Given the description of an element on the screen output the (x, y) to click on. 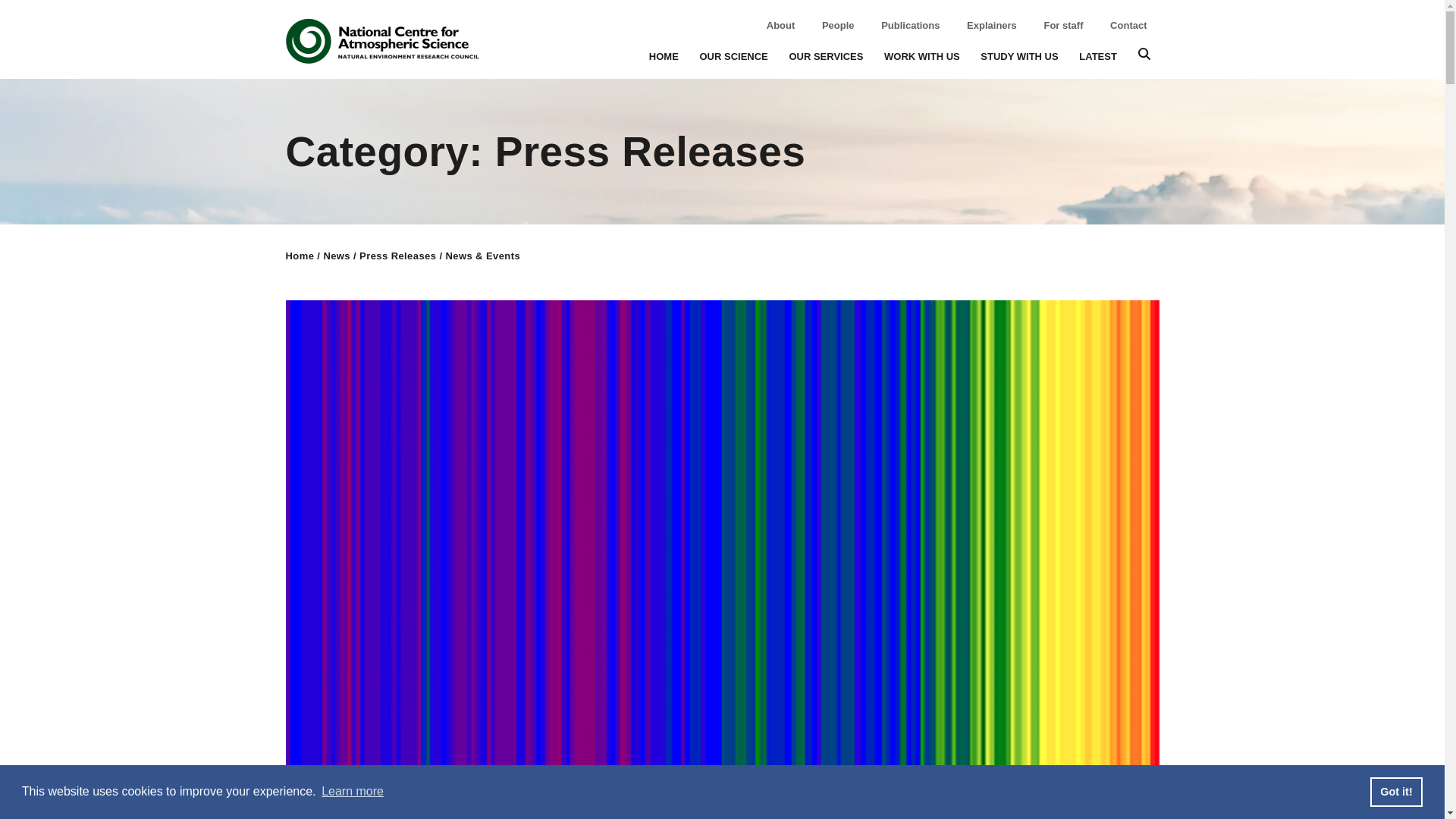
LATEST (1097, 55)
WORK WITH US (921, 55)
For staff (1063, 25)
OUR SCIENCE (732, 55)
News (336, 255)
HOME (663, 55)
Home (299, 255)
People (838, 25)
About (780, 25)
OUR SERVICES (826, 55)
Press Releases (397, 255)
Publications (909, 25)
Got it! (1396, 791)
Learn more (351, 791)
STUDY WITH US (1018, 55)
